Given the description of an element on the screen output the (x, y) to click on. 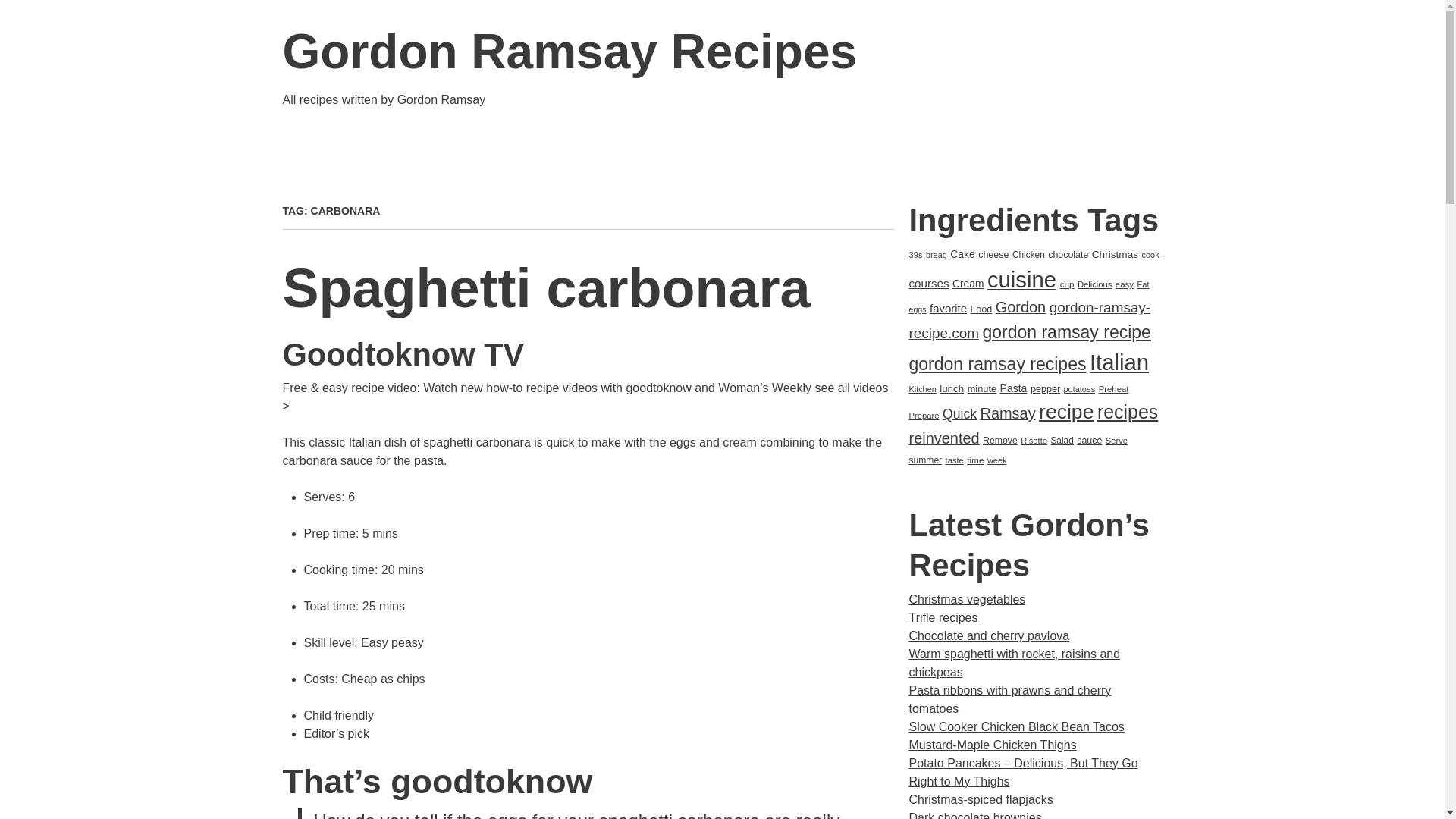
Delicious (1094, 284)
Food (981, 308)
gordon ramsay recipes (997, 363)
Christmas (1115, 254)
cuisine (1022, 278)
cup (1066, 284)
Gordon (1020, 306)
Gordon Ramsay Recipes (569, 51)
lunch (951, 388)
courses (928, 282)
